Given the description of an element on the screen output the (x, y) to click on. 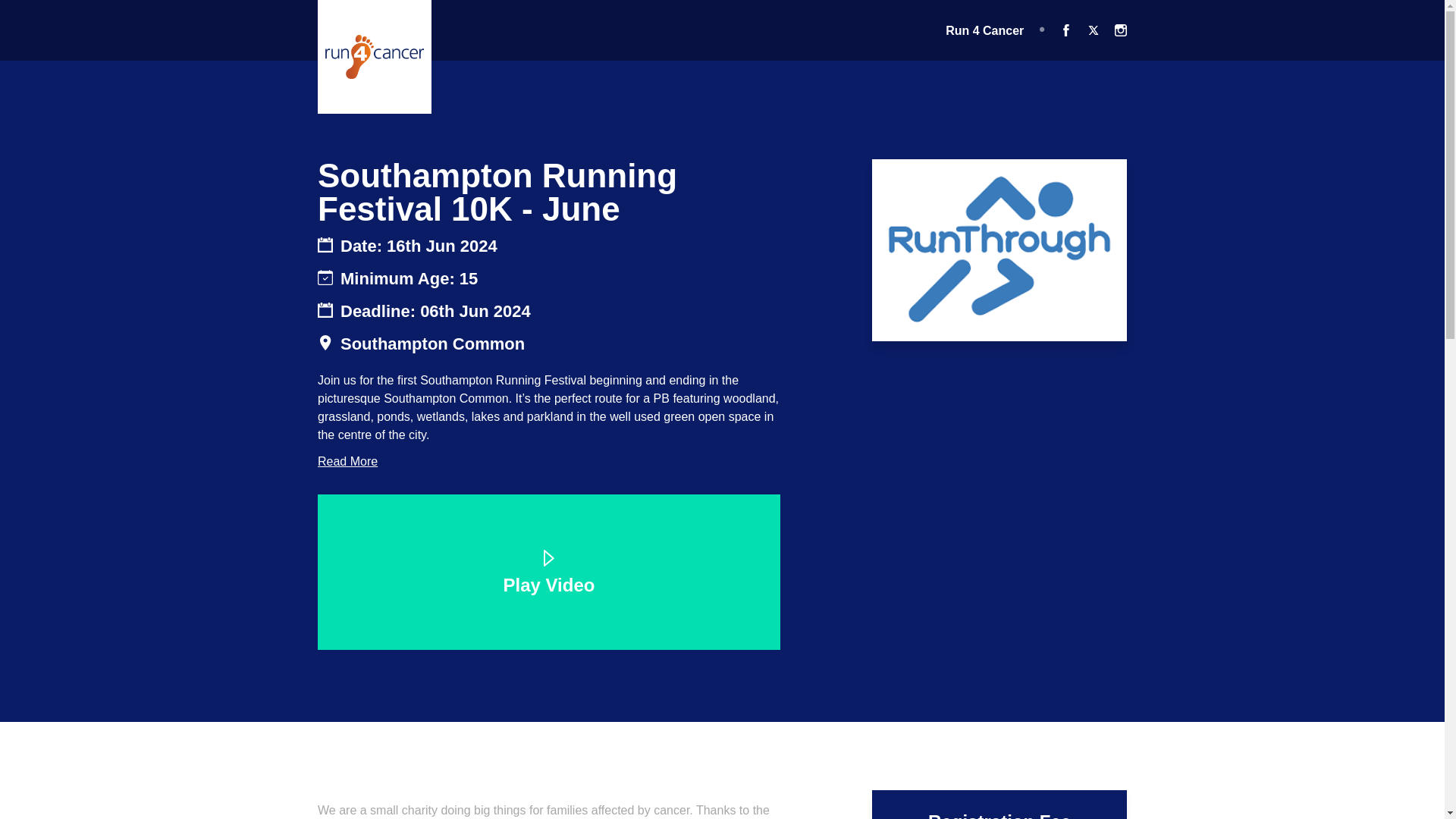
Instagram (1120, 30)
Play Video (548, 575)
Twitter (1093, 30)
Facebook (1065, 30)
